Given the description of an element on the screen output the (x, y) to click on. 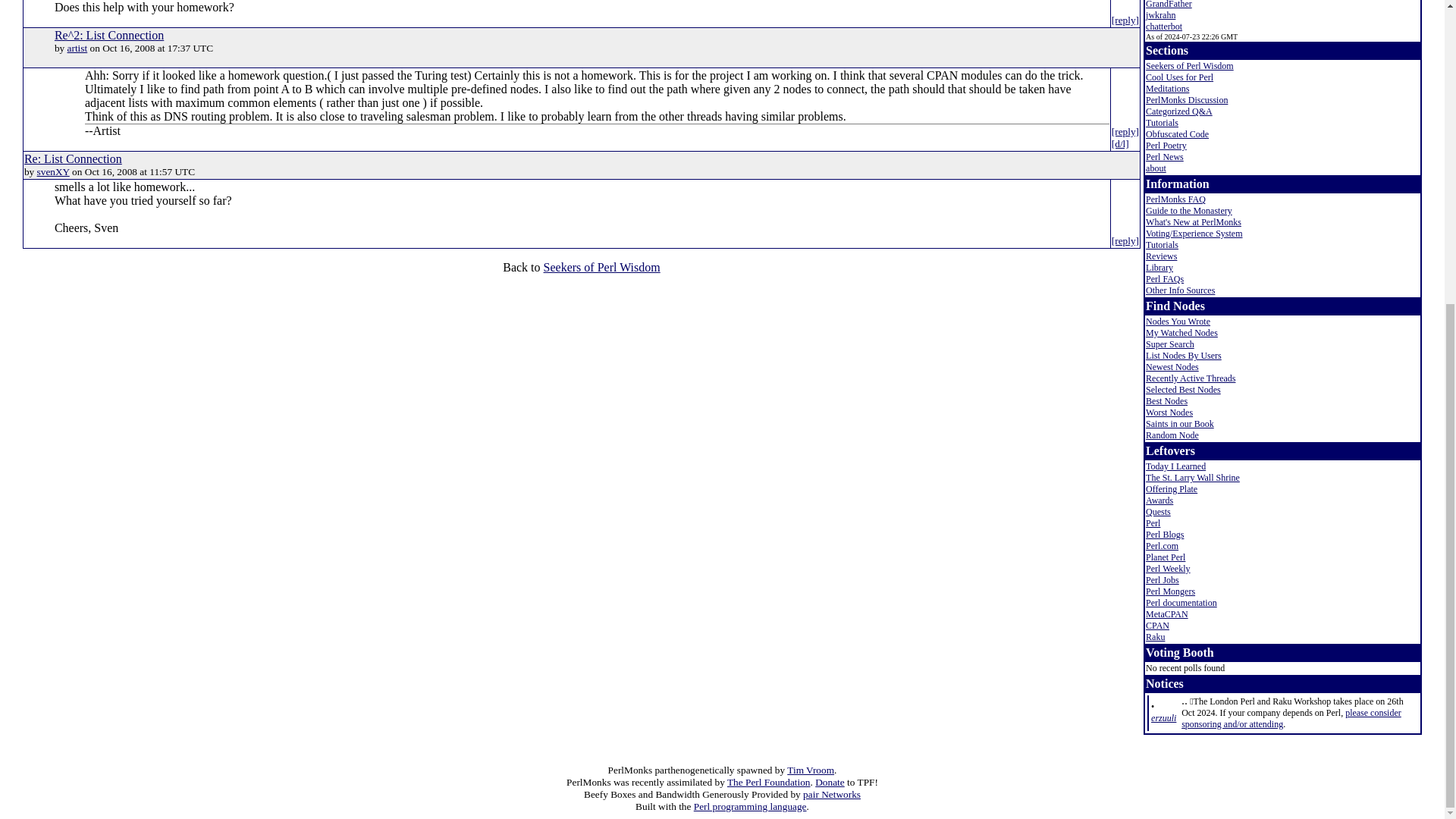
Re: List Connection (73, 158)
chatterbot's home node. Level 1 (1163, 26)
jwkrahn's home node. Level 19 (1159, 14)
2024-05-30 14:23:36 (1163, 717)
GrandFather's home node. Level 26. Member of: janitors (1168, 4)
artist (76, 48)
